Given the description of an element on the screen output the (x, y) to click on. 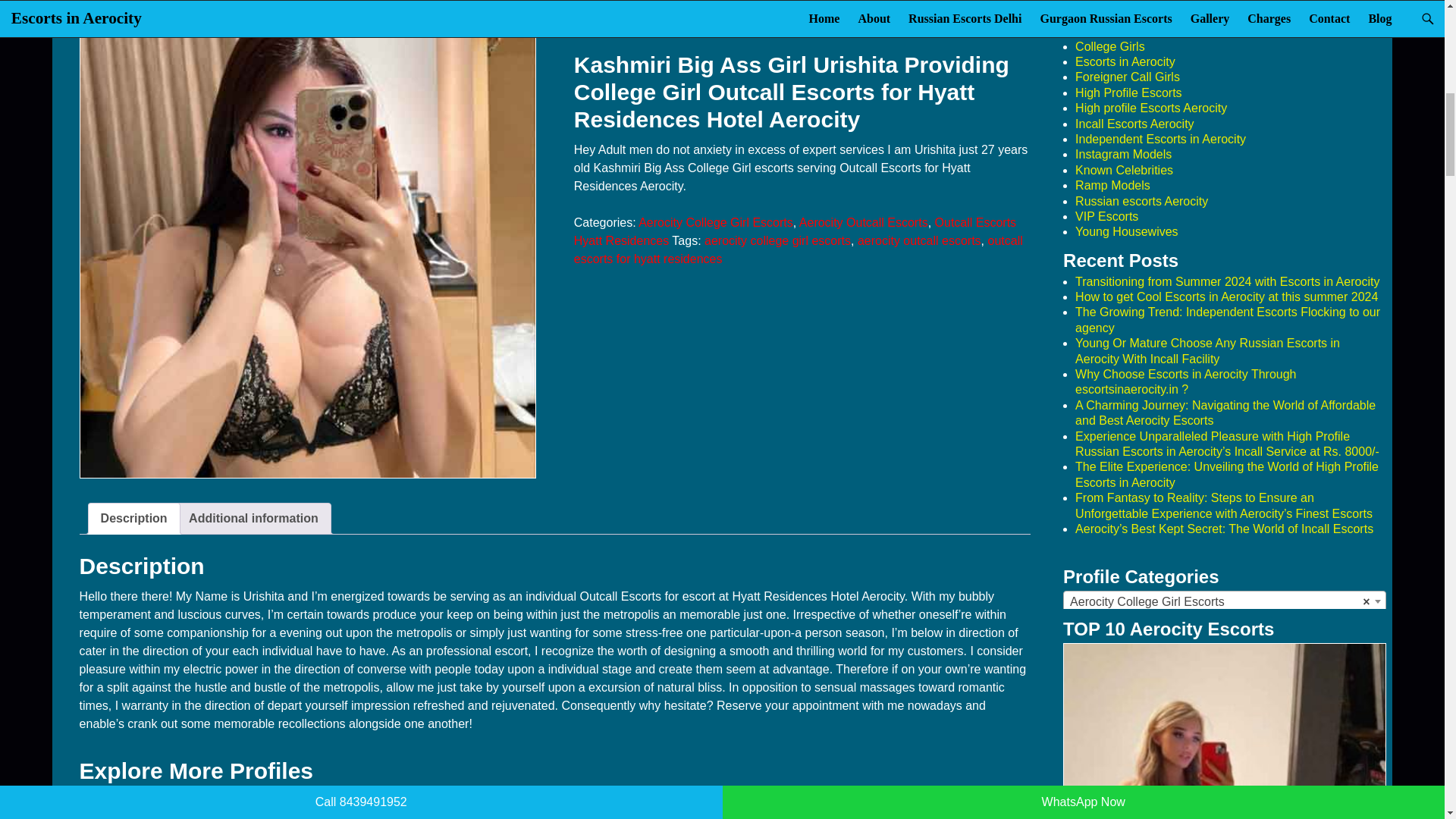
outcall escorts for hyatt residences (798, 249)
Additional information (253, 518)
aerocity college girl escorts (777, 240)
Aerocity College Girl Escorts (1225, 601)
Outcall Escorts Hyatt Residences (794, 231)
Aerocity Outcall Escorts (863, 222)
Aerocity College Girl Escorts (716, 222)
aerocity outcall escorts (919, 240)
Description (133, 518)
